Given the description of an element on the screen output the (x, y) to click on. 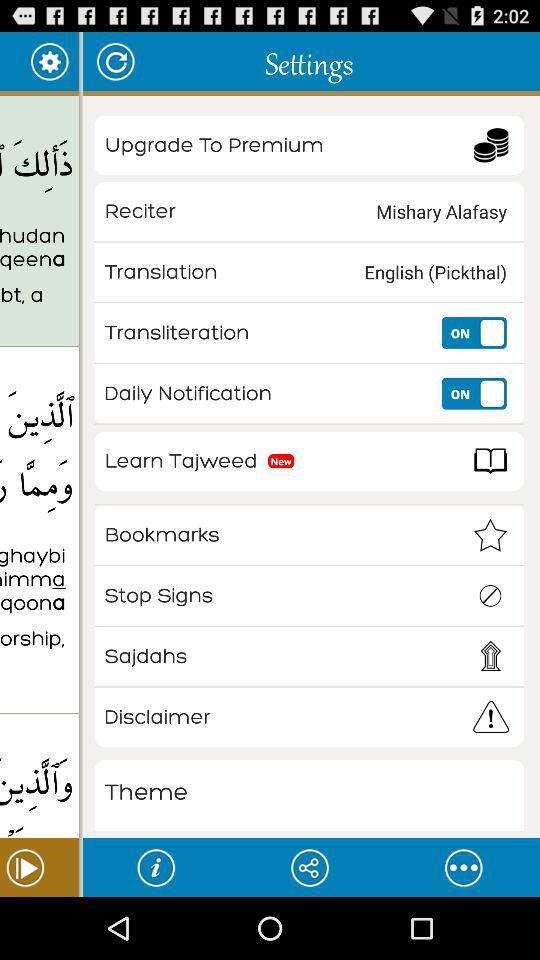
tap app to the right of surah al-baqarah item (48, 60)
